Given the description of an element on the screen output the (x, y) to click on. 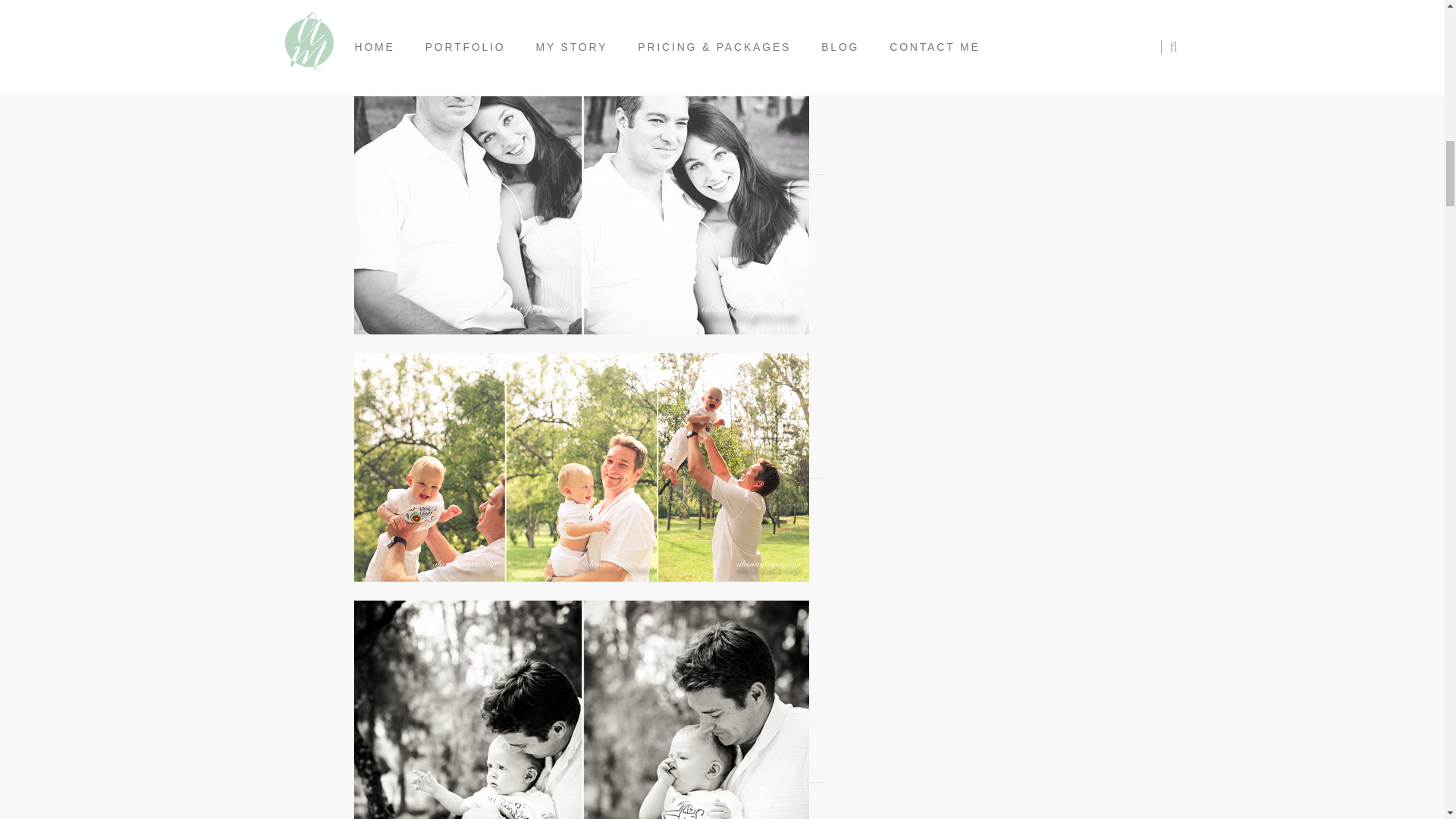
baby shoot 11 (581, 709)
baby shoot 12 (581, 466)
